Given the description of an element on the screen output the (x, y) to click on. 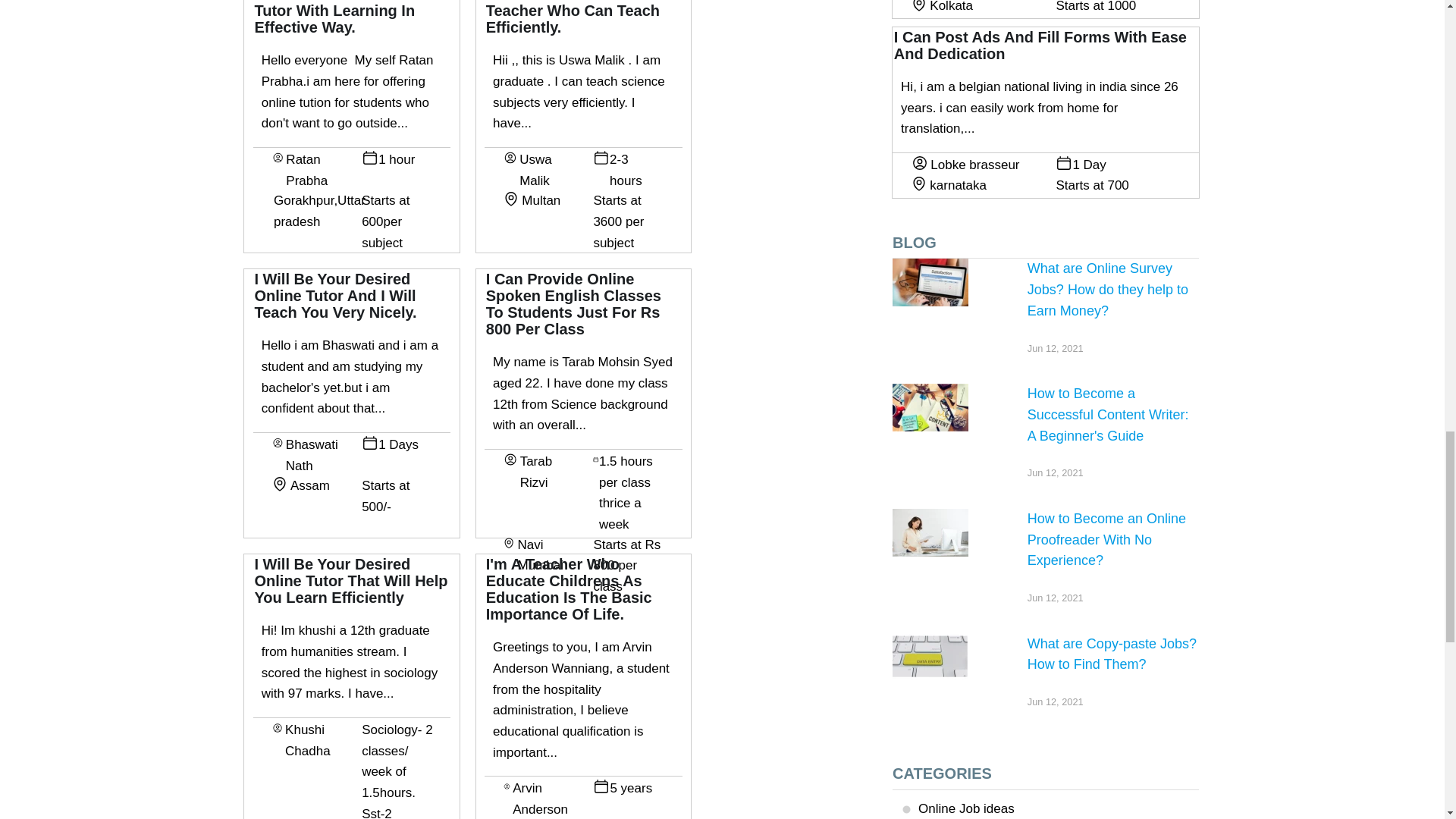
What are Copy-paste Jobs? How to Find Them? (930, 657)
What are Online Survey Jobs? How do they help to Earn Money? (930, 282)
How to Become an Online Proofreader With No Experience? (930, 532)
